Given the description of an element on the screen output the (x, y) to click on. 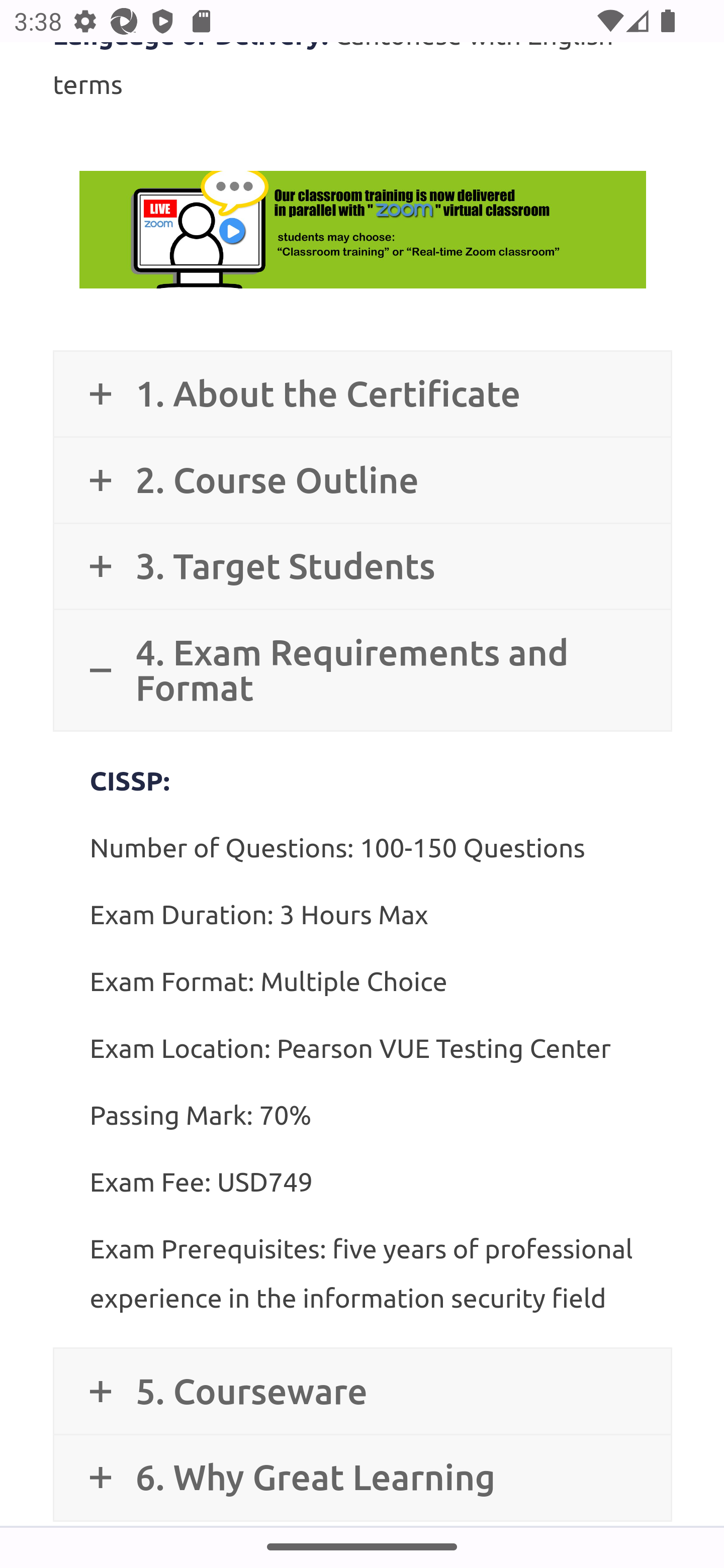
5. Courseware 5. Courseware 5. Courseware (361, 1391)
